Given the description of an element on the screen output the (x, y) to click on. 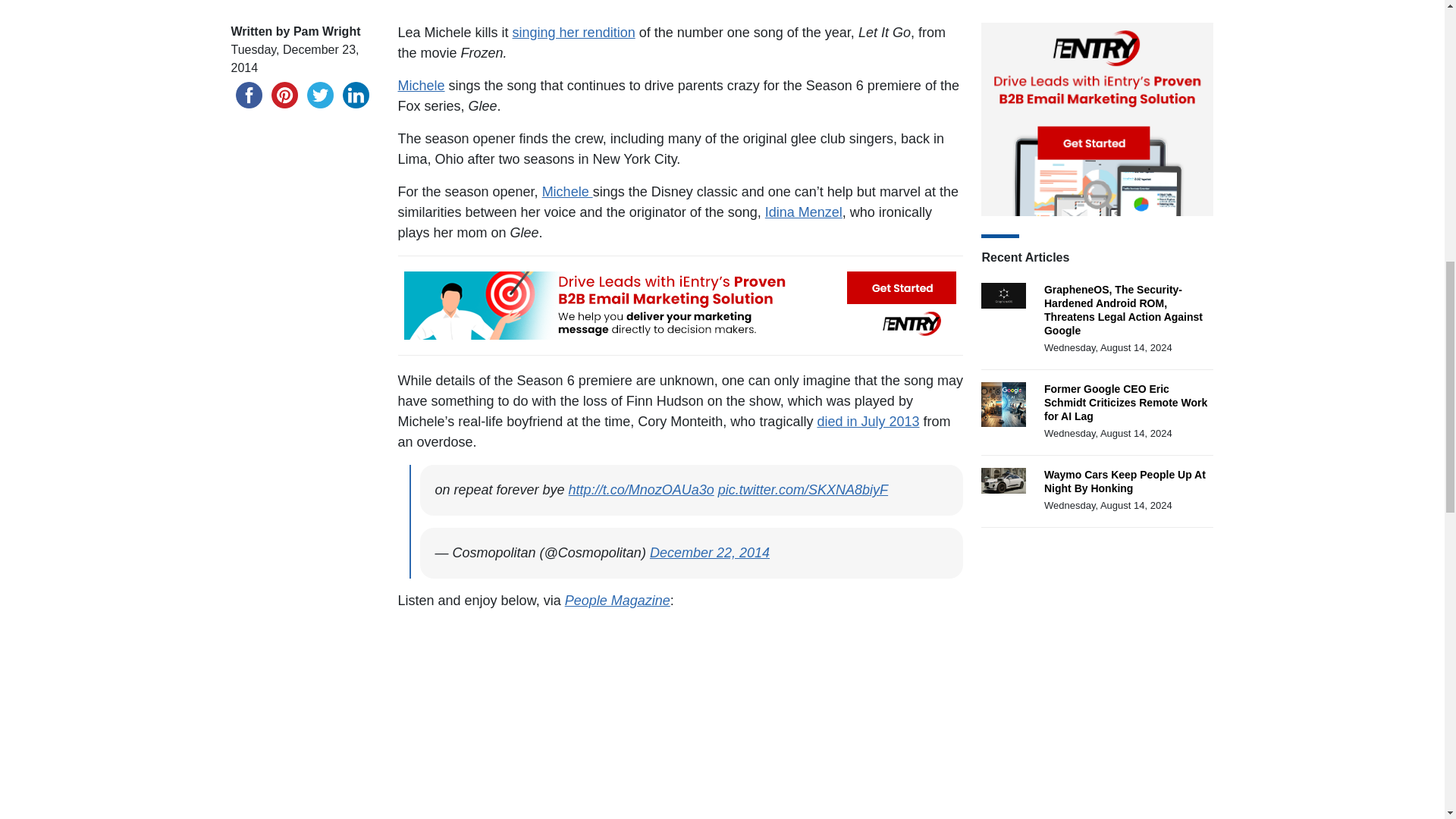
linkedin (355, 94)
pinterest (284, 94)
twitter (319, 94)
facebook (248, 94)
